Given the description of an element on the screen output the (x, y) to click on. 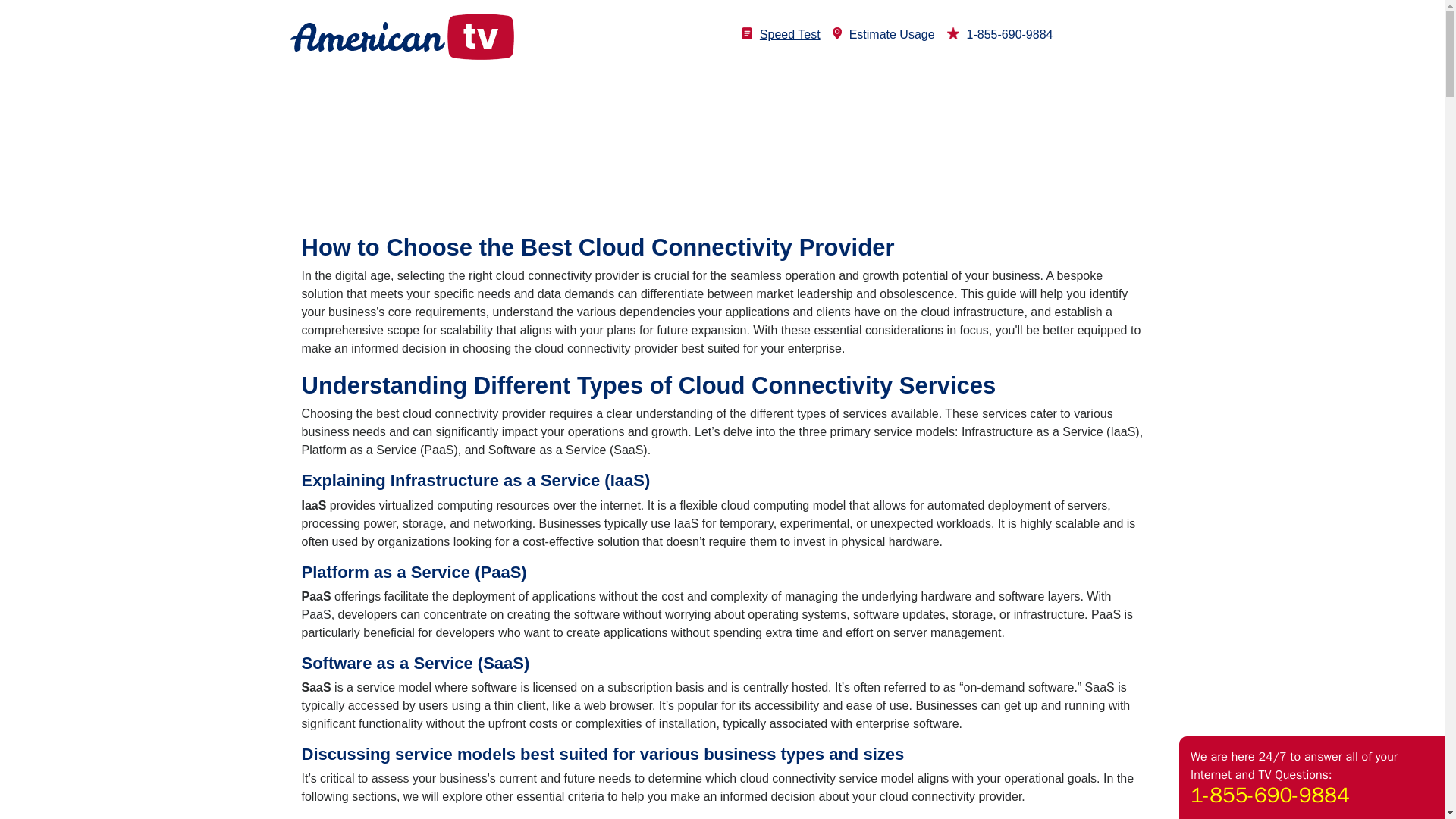
Estimate Usage (883, 34)
1-855-690-9884 (999, 34)
Speed Test (781, 34)
